Given the description of an element on the screen output the (x, y) to click on. 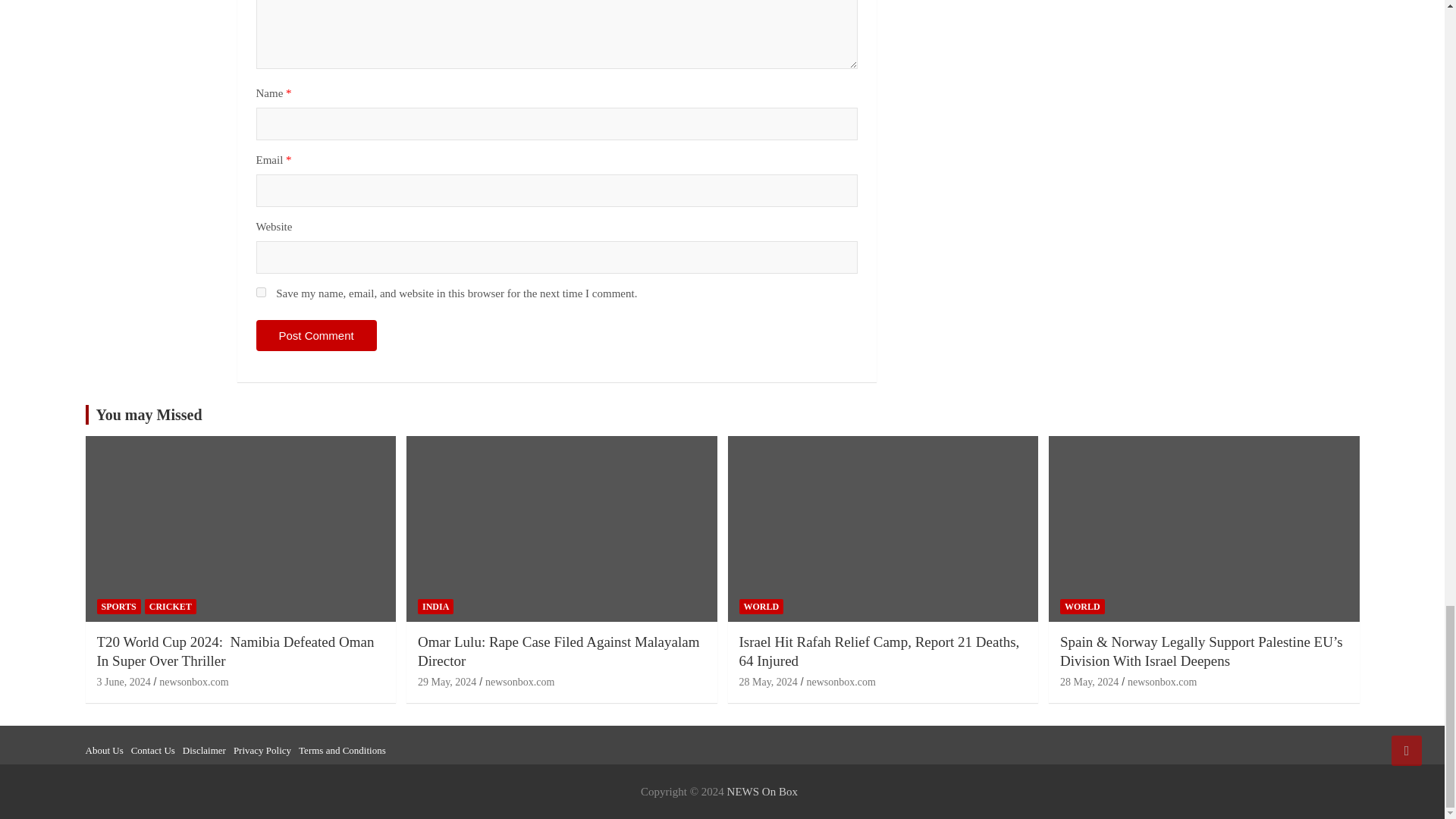
yes (261, 292)
Israel Hit Rafah Relief Camp, Report 21 Deaths, 64 Injured (767, 681)
NEWS On Box (761, 791)
Omar Lulu: Rape Case Filed Against Malayalam Director (446, 681)
Post Comment (316, 335)
